Given the description of an element on the screen output the (x, y) to click on. 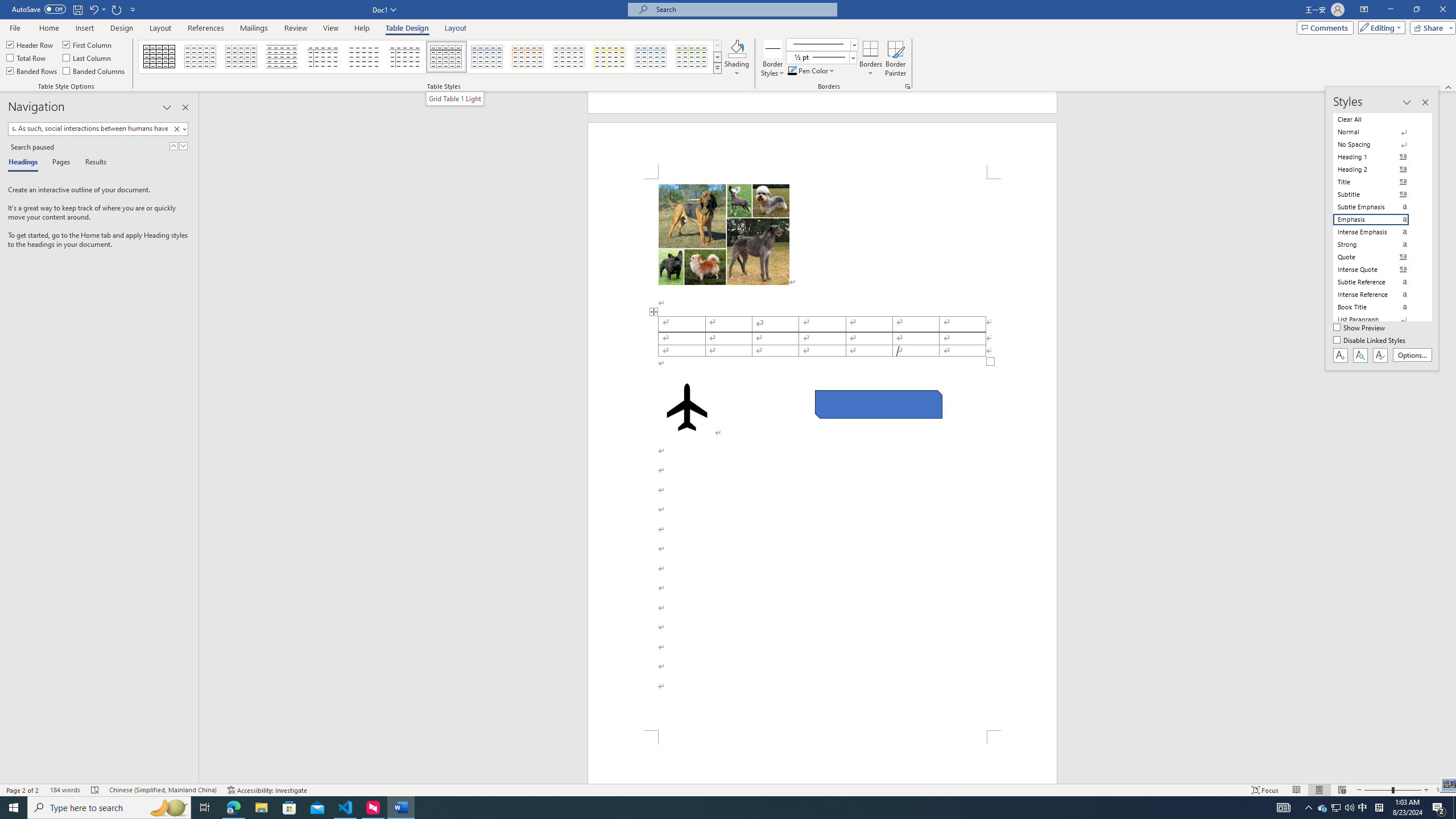
No Spacing (1377, 144)
Subtle Emphasis (1377, 206)
Strong (1377, 244)
Header Row (30, 44)
Plain Table 5 (405, 56)
Border Styles (773, 58)
Previous Result (173, 145)
Undo Style (92, 9)
Grid Table 1 Light (454, 98)
